Given the description of an element on the screen output the (x, y) to click on. 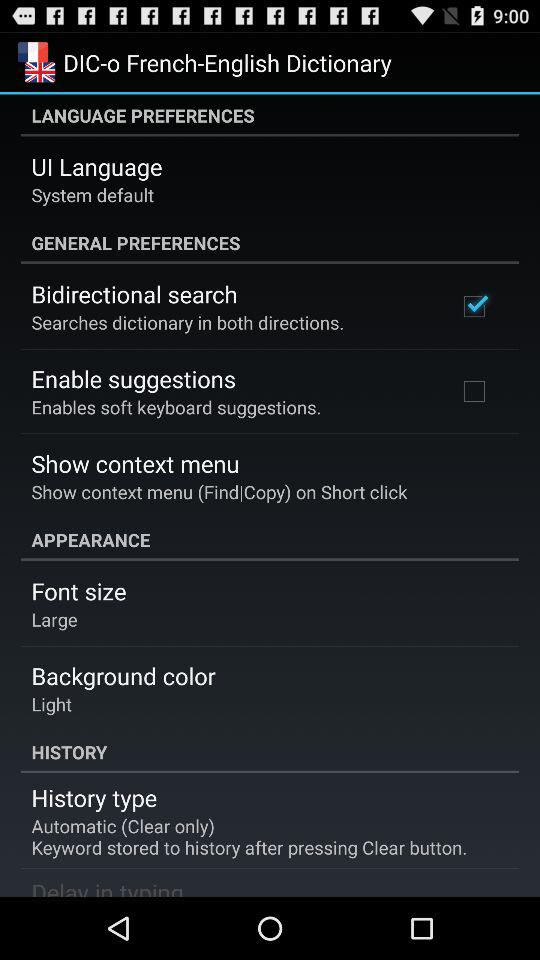
click the app above searches dictionary in (134, 294)
